Given the description of an element on the screen output the (x, y) to click on. 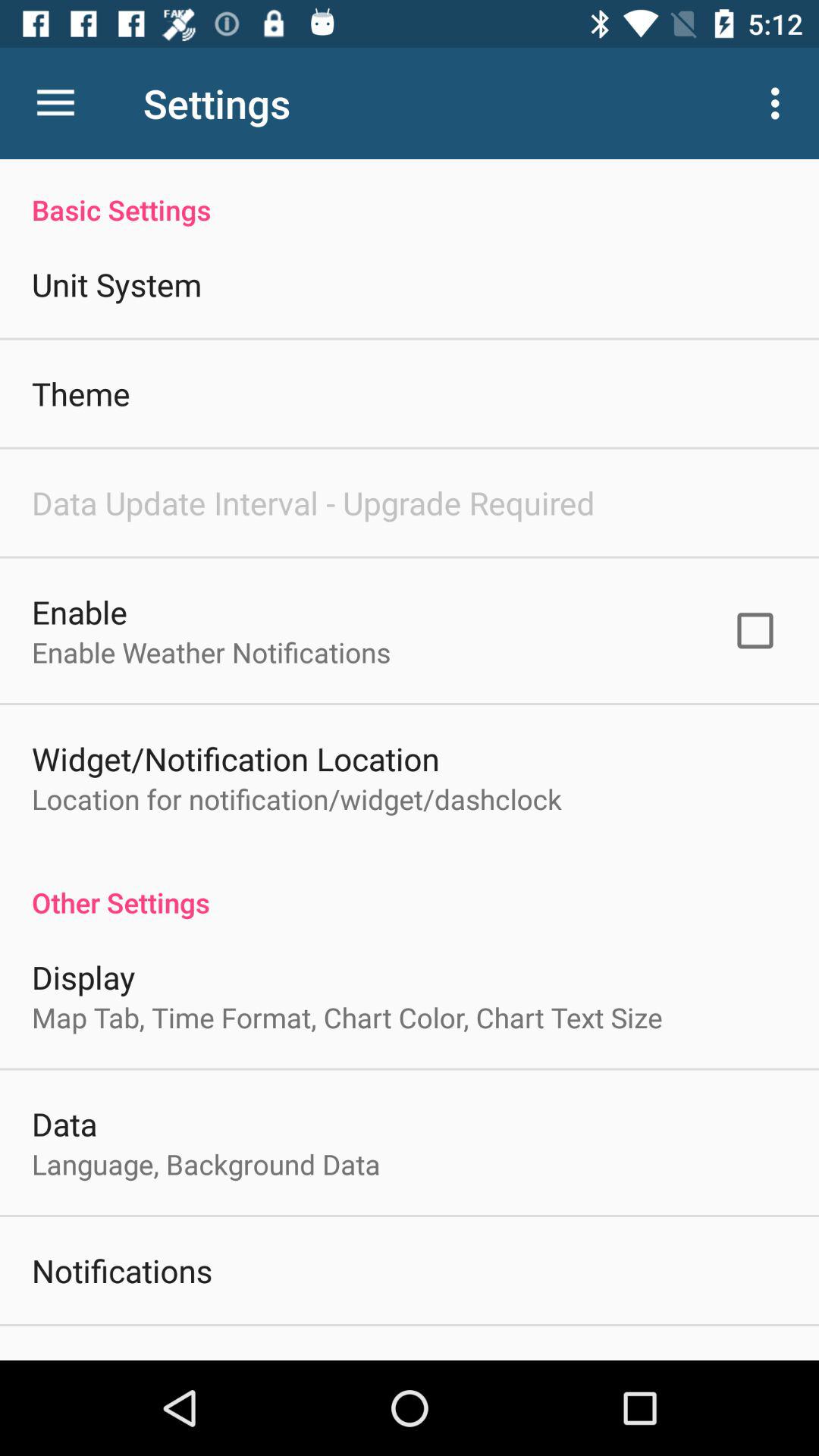
choose language, background data item (205, 1164)
